Given the description of an element on the screen output the (x, y) to click on. 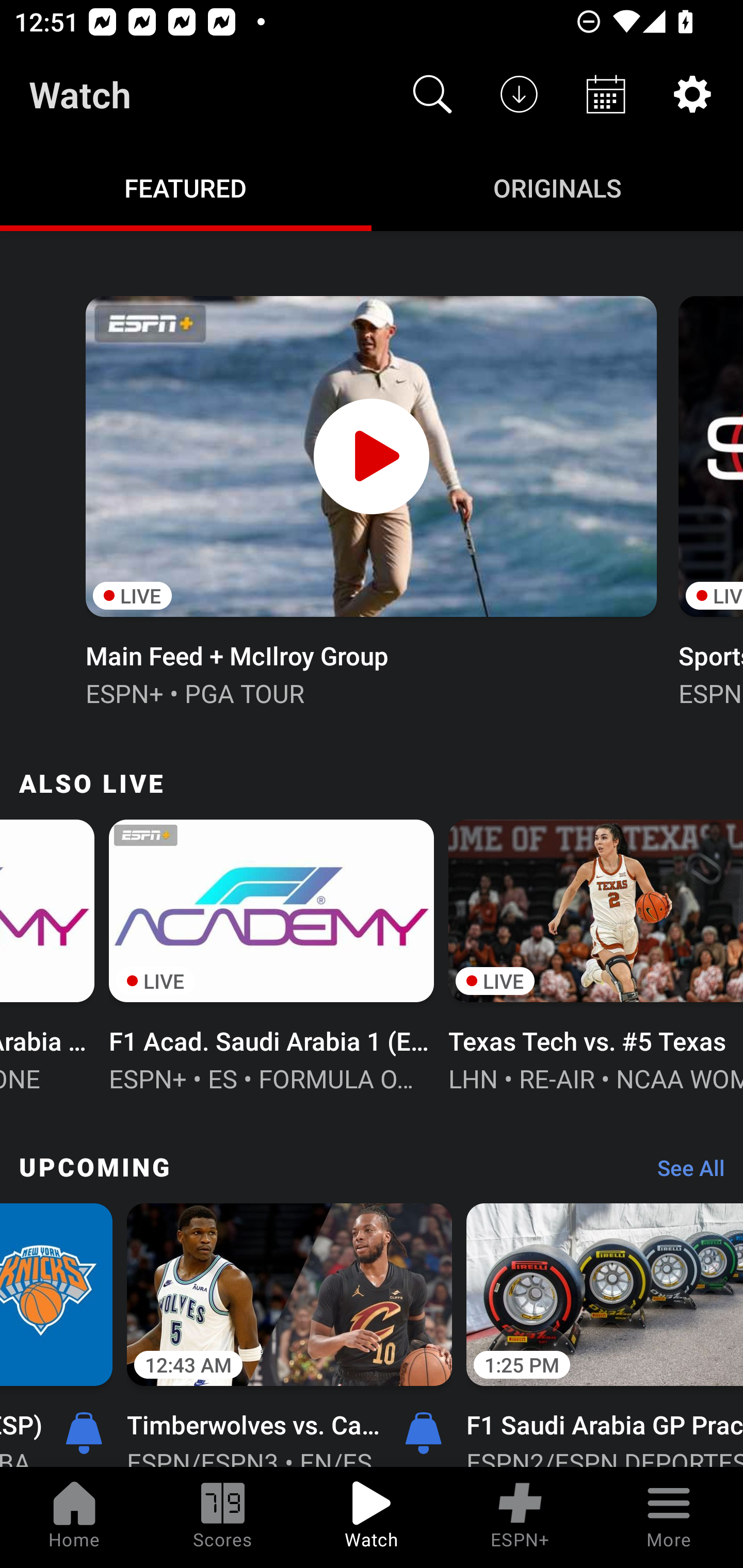
Search (432, 93)
Downloads (518, 93)
Schedule (605, 93)
Settings (692, 93)
Originals ORIGINALS (557, 187)
 LIVE Main Feed + McIlroy Group ESPN+ • PGA TOUR (370, 499)
See All (683, 1172)
Home (74, 1517)
Scores (222, 1517)
ESPN+ (519, 1517)
More (668, 1517)
